Given the description of an element on the screen output the (x, y) to click on. 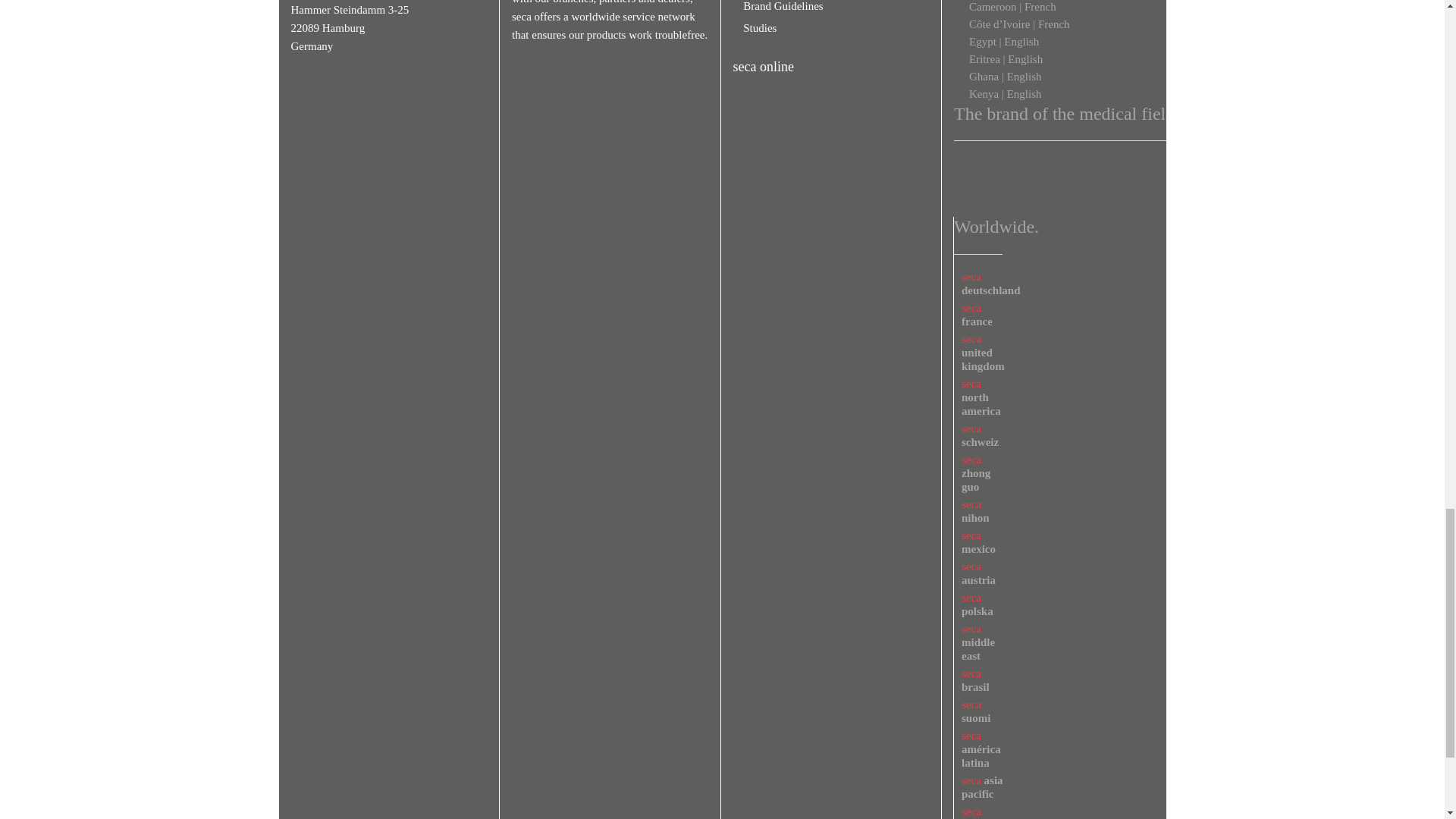
Studies (755, 28)
Brand Guidelines (778, 6)
Brand Guidelines (778, 6)
